Given the description of an element on the screen output the (x, y) to click on. 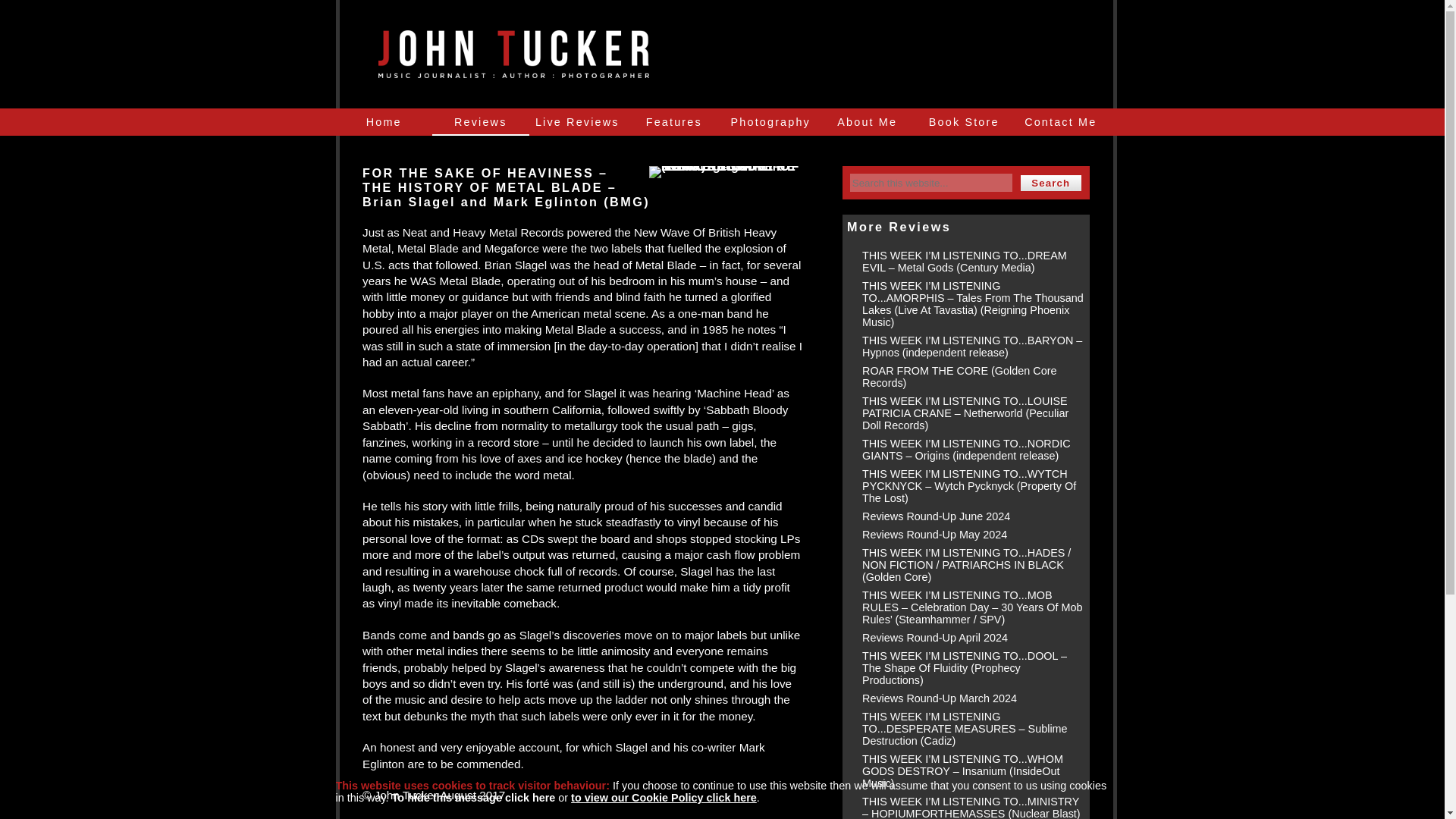
Reviews Round-Up April 2024 (934, 637)
Reviews Round-Up May 2024 (934, 534)
Reviews Round-Up March 2024 (938, 698)
John Tucker Online (512, 69)
Contact Me (1060, 121)
Reviews Round-Up June 2024 (935, 516)
to view our Cookie Policy click here (663, 797)
Features (674, 121)
About Me (866, 121)
Book Store (964, 121)
Search (1050, 182)
Reviews (480, 121)
Features (674, 121)
Reviews Round-Up May 2024 (934, 534)
Live Reviews (577, 121)
